Given the description of an element on the screen output the (x, y) to click on. 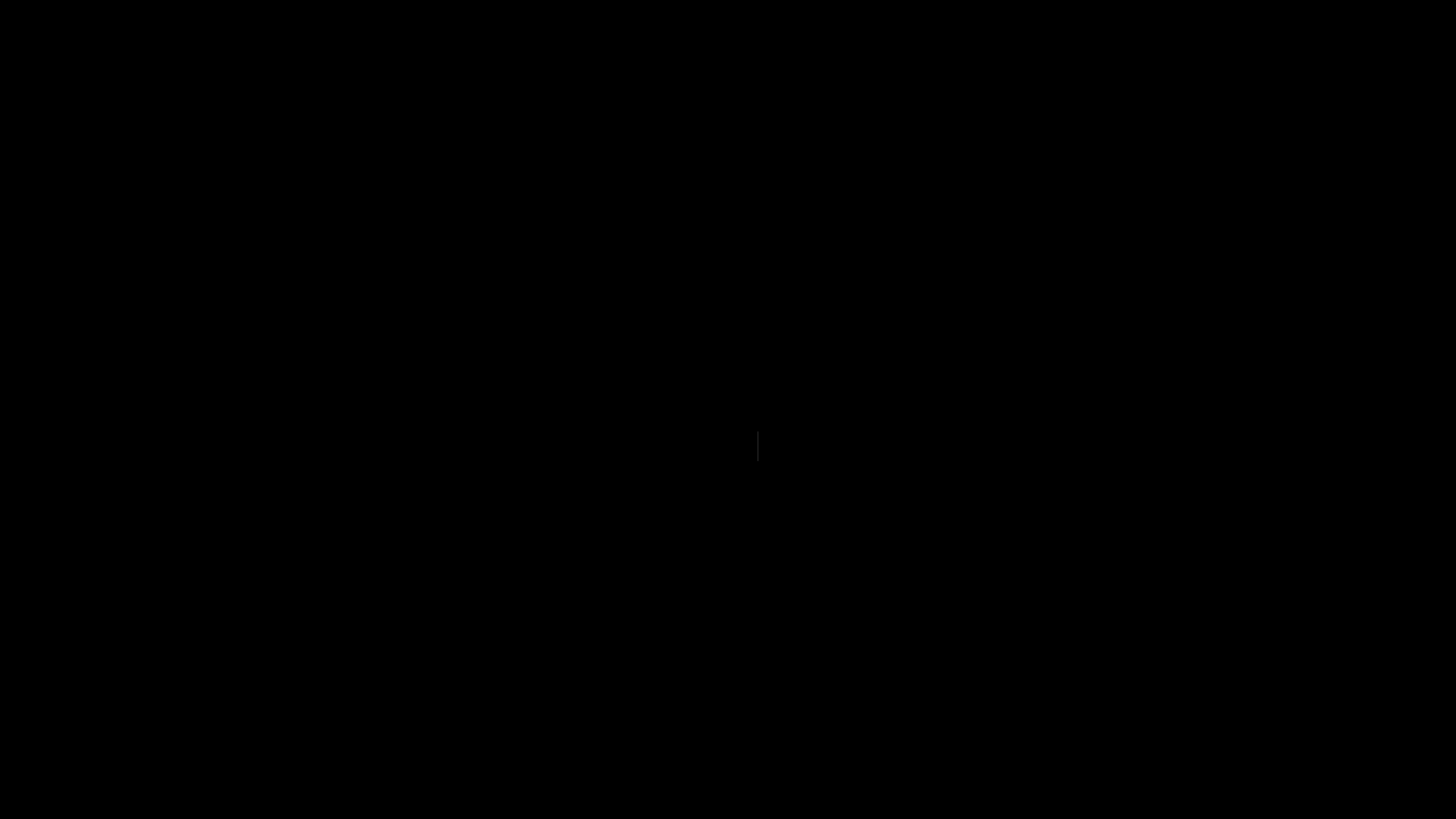
BACK TO HOME Element type: text (727, 446)
